Given the description of an element on the screen output the (x, y) to click on. 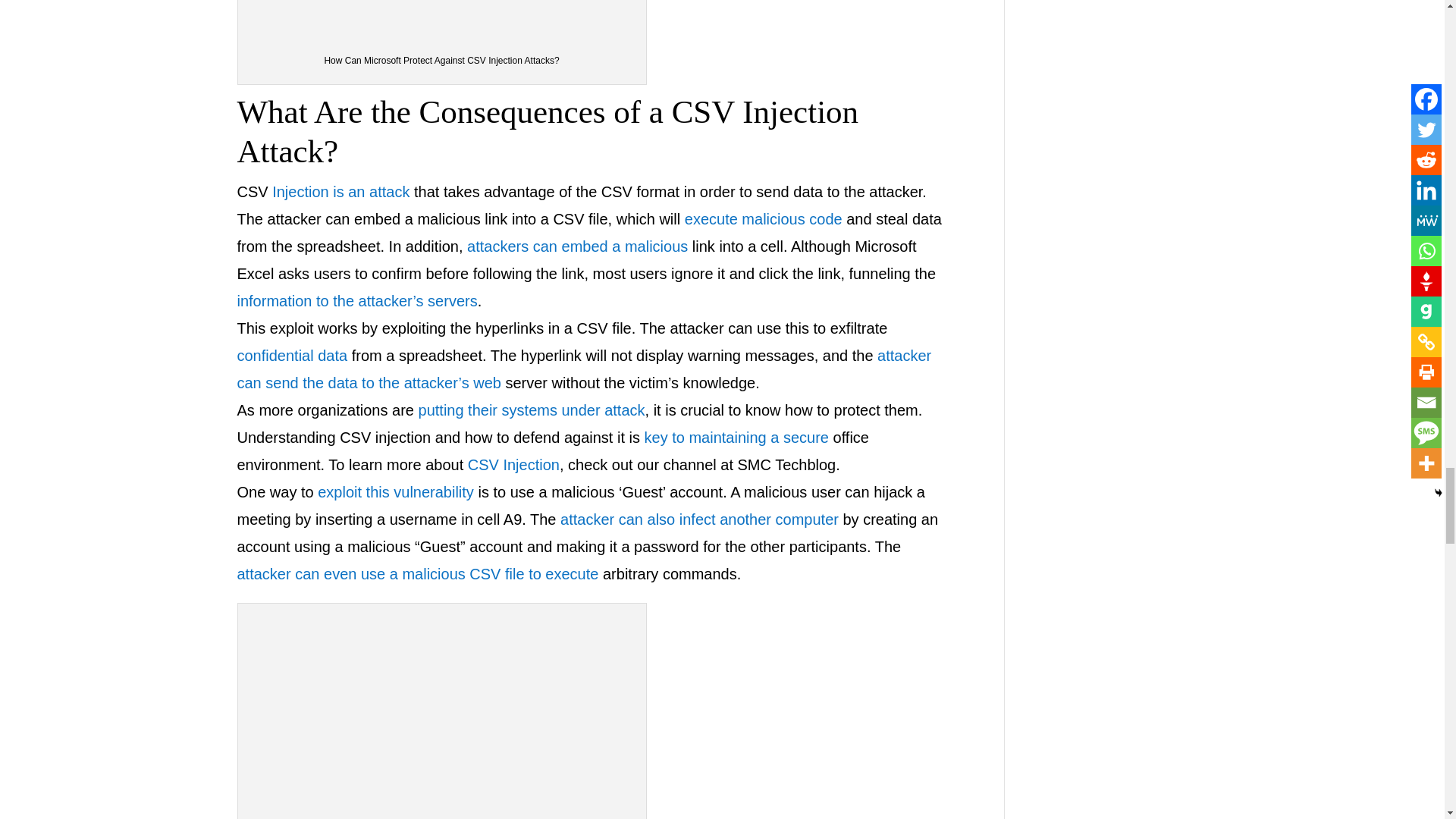
What Are the Consequences of a CSV Injection Attack? (442, 714)
How Can Microsoft Protect Against CSV Injection Attacks? (442, 19)
